Given the description of an element on the screen output the (x, y) to click on. 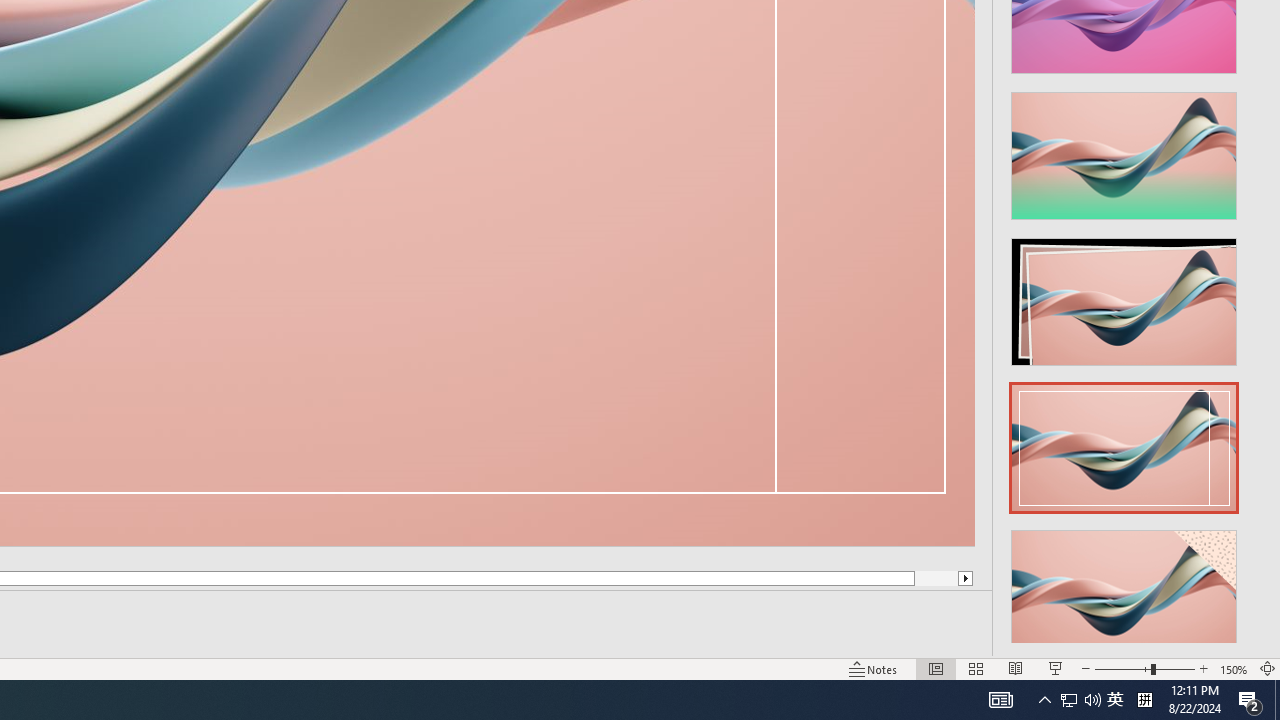
Zoom 150% (1234, 668)
